Given the description of an element on the screen output the (x, y) to click on. 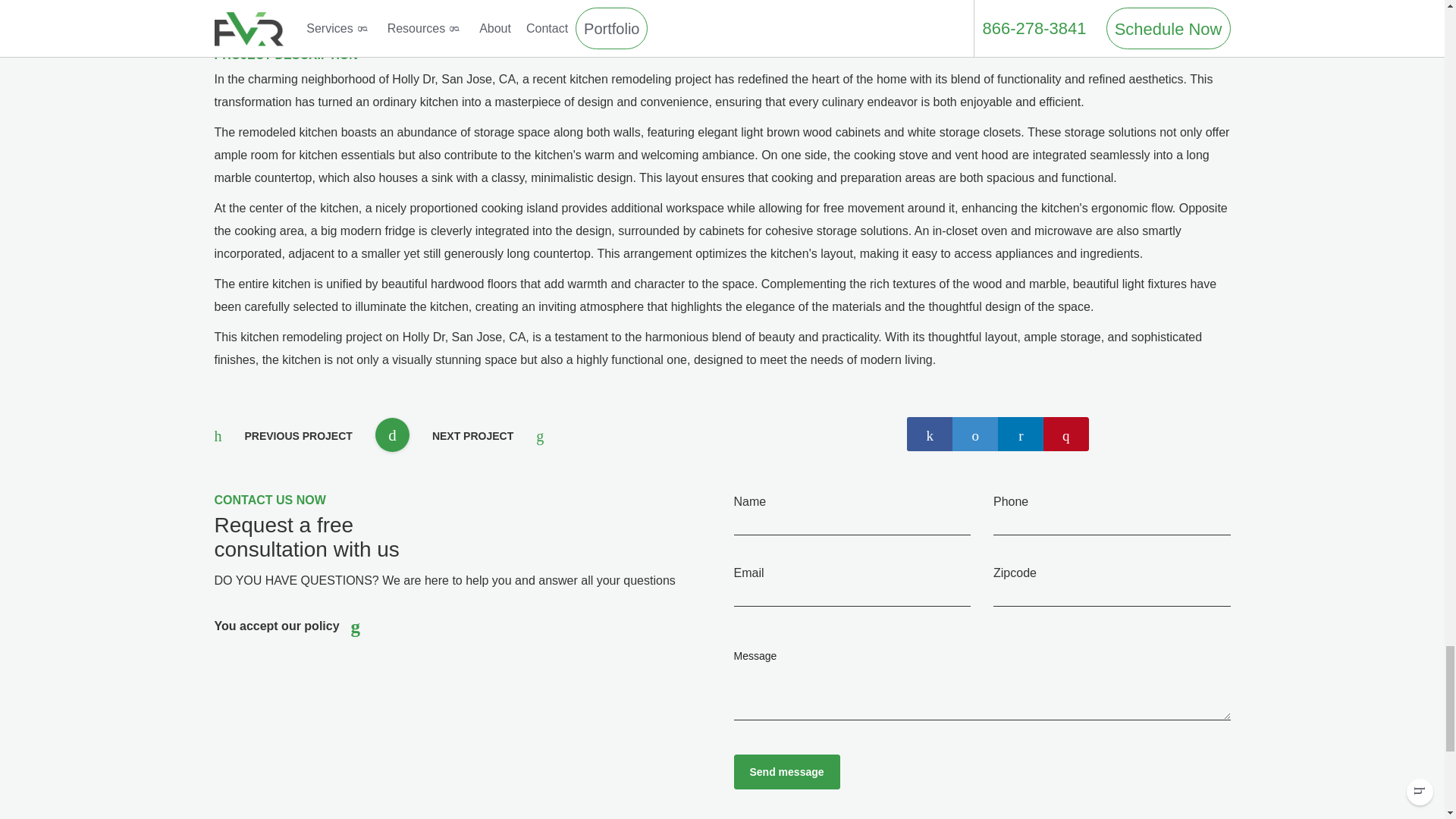
NEXT PROJECT (487, 438)
Send message (786, 771)
You accept our policy (276, 626)
PREVIOUS PROJECT (283, 438)
